Given the description of an element on the screen output the (x, y) to click on. 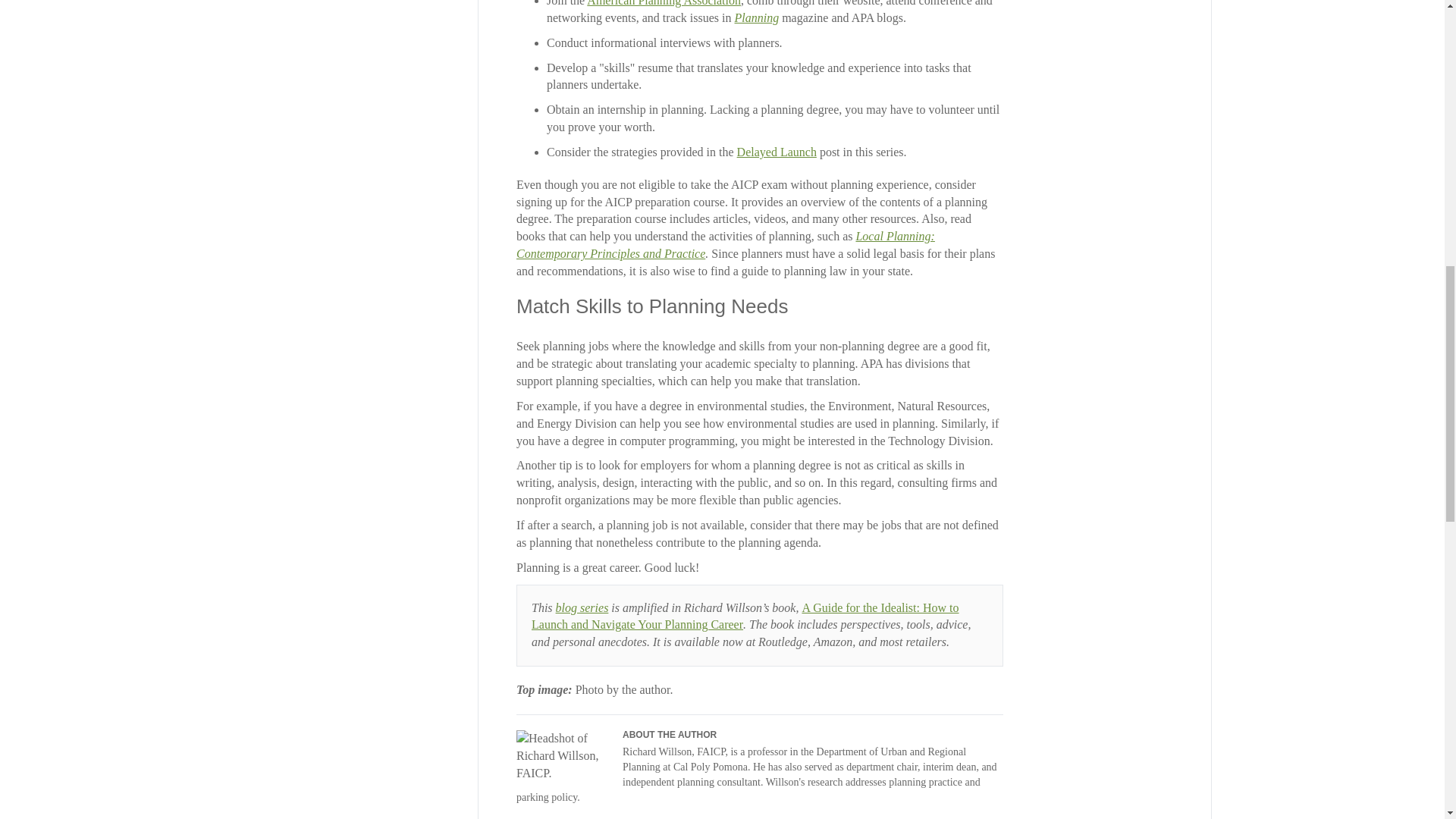
Headshot of Richard Willson, FAICP. (561, 756)
